Given the description of an element on the screen output the (x, y) to click on. 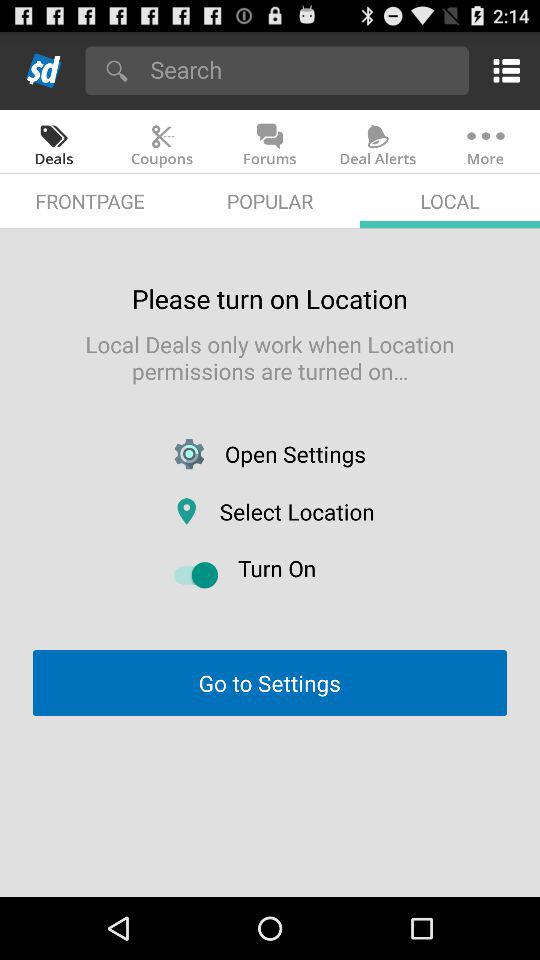
jump to popular app (270, 200)
